Given the description of an element on the screen output the (x, y) to click on. 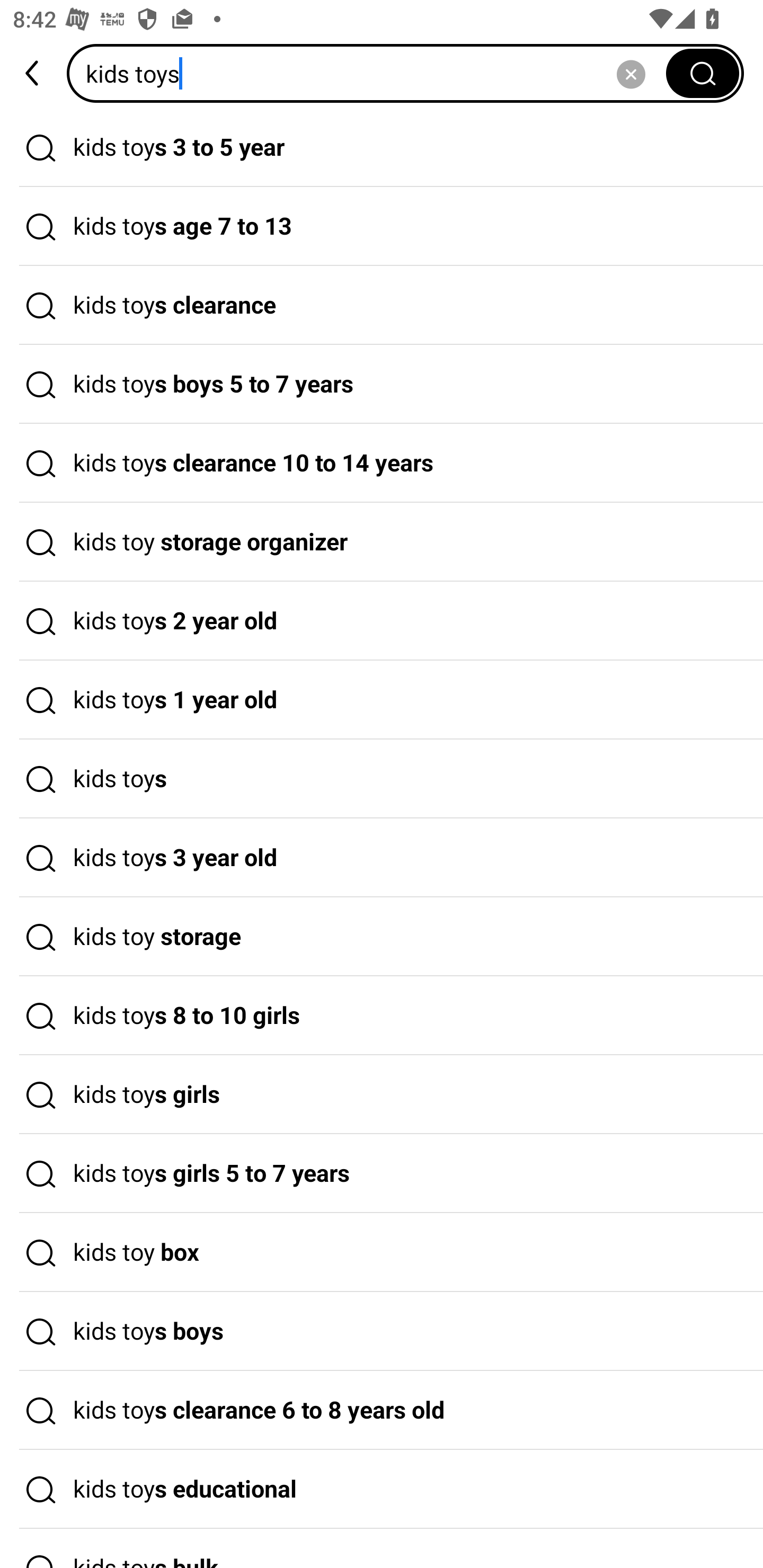
back (33, 72)
kids toys (372, 73)
Delete search history (630, 73)
kids toys 3 to 5 year (381, 147)
kids toys age 7 to 13 (381, 226)
kids toys clearance (381, 305)
kids toys boys 5 to 7 years (381, 383)
kids toys clearance 10 to 14 years (381, 463)
kids toy storage organizer (381, 542)
kids toys 2 year old (381, 620)
kids toys 1 year old (381, 700)
kids toys (381, 779)
kids toys 3 year old (381, 857)
kids toy storage (381, 936)
kids toys 8 to 10 girls (381, 1015)
kids toys girls (381, 1094)
kids toys girls 5 to 7 years (381, 1173)
kids toy box (381, 1252)
kids toys boys (381, 1331)
kids toys clearance 6 to 8 years old (381, 1410)
kids toys educational (381, 1489)
